Given the description of an element on the screen output the (x, y) to click on. 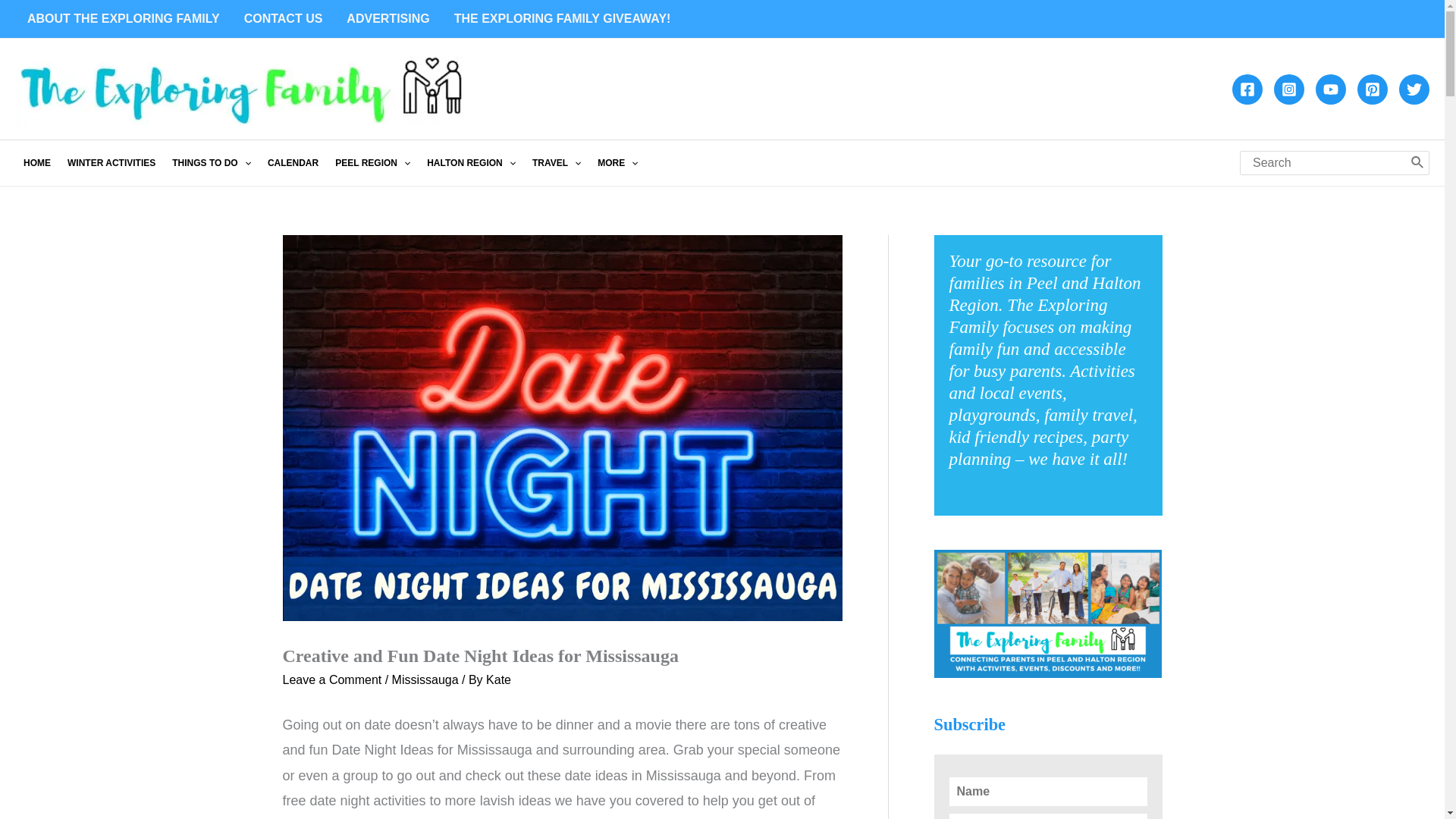
HALTON REGION (471, 162)
Contact Katie and Co! (282, 18)
THE EXPLORING FAMILY GIVEAWAY! (562, 18)
ADVERTISING (387, 18)
About Kate and Co (122, 18)
THINGS TO DO (211, 162)
ABOUT THE EXPLORING FAMILY (122, 18)
HOME (36, 162)
View all posts by Kate (498, 679)
PEEL REGION (372, 162)
CONTACT US (282, 18)
WINTER ACTIVITIES (111, 162)
CALENDAR (292, 162)
